Given the description of an element on the screen output the (x, y) to click on. 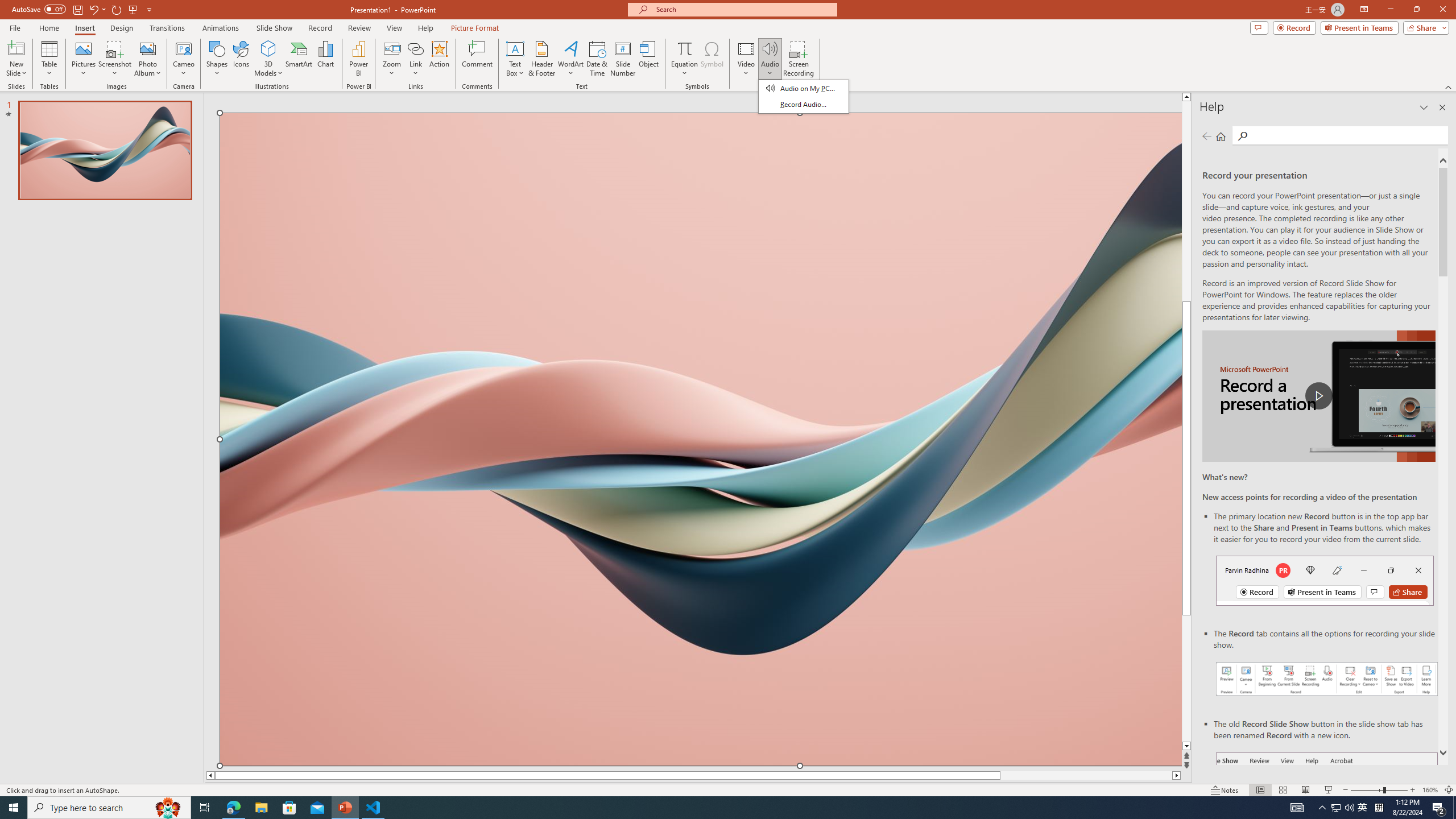
Comment (476, 58)
play Record a Presentation (1318, 395)
